Given the description of an element on the screen output the (x, y) to click on. 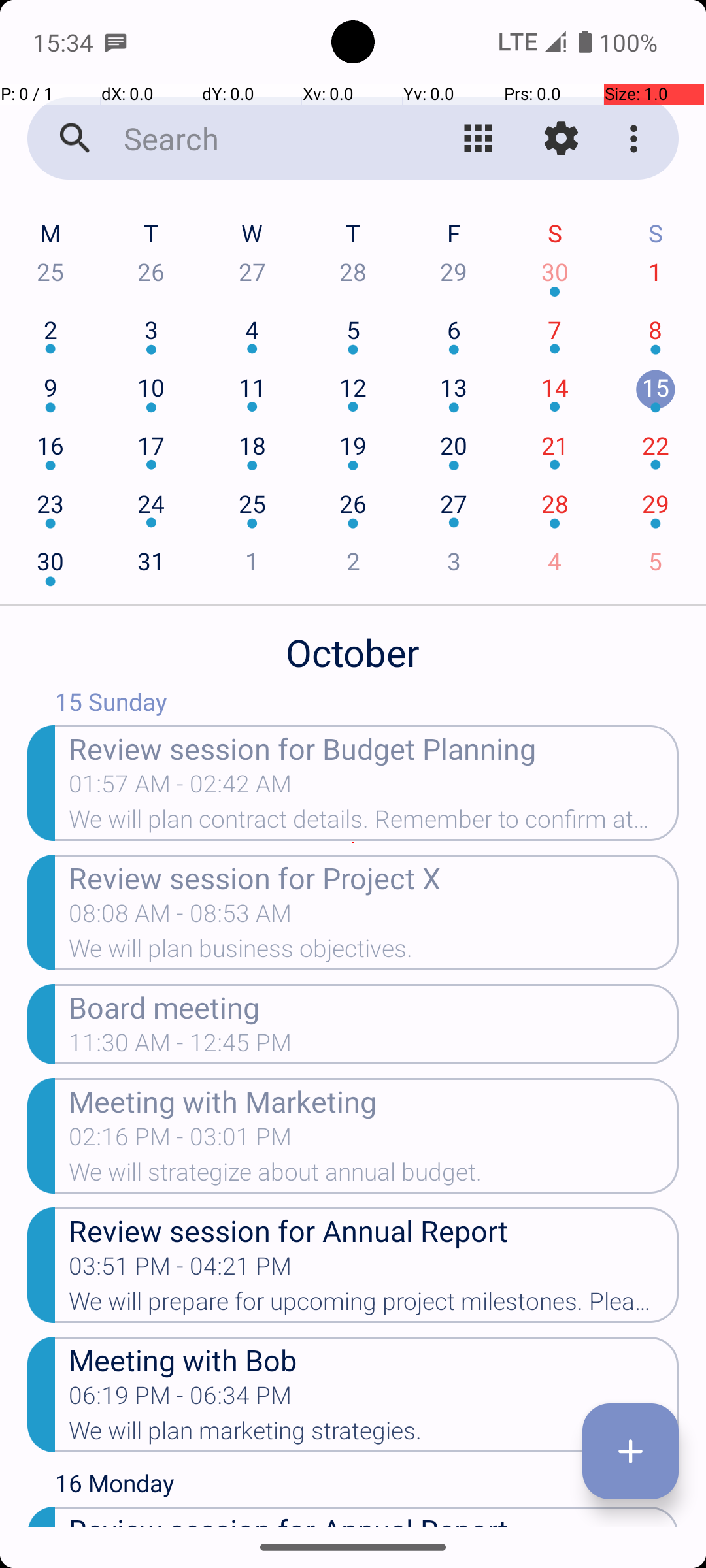
01:57 AM - 02:42 AM Element type: android.widget.TextView (179, 787)
We will plan contract details. Remember to confirm attendance. Element type: android.widget.TextView (373, 822)
08:08 AM - 08:53 AM Element type: android.widget.TextView (179, 916)
We will plan business objectives. Element type: android.widget.TextView (373, 952)
Board meeting Element type: android.widget.TextView (373, 1006)
11:30 AM - 12:45 PM Element type: android.widget.TextView (179, 1046)
02:16 PM - 03:01 PM Element type: android.widget.TextView (179, 1140)
We will strategize about annual budget. Element type: android.widget.TextView (373, 1175)
03:51 PM - 04:21 PM Element type: android.widget.TextView (179, 1269)
We will prepare for upcoming project milestones. Please bring relevant documents. Element type: android.widget.TextView (373, 1305)
06:19 PM - 06:34 PM Element type: android.widget.TextView (179, 1399)
We will plan marketing strategies. Element type: android.widget.TextView (373, 1434)
